Given the description of an element on the screen output the (x, y) to click on. 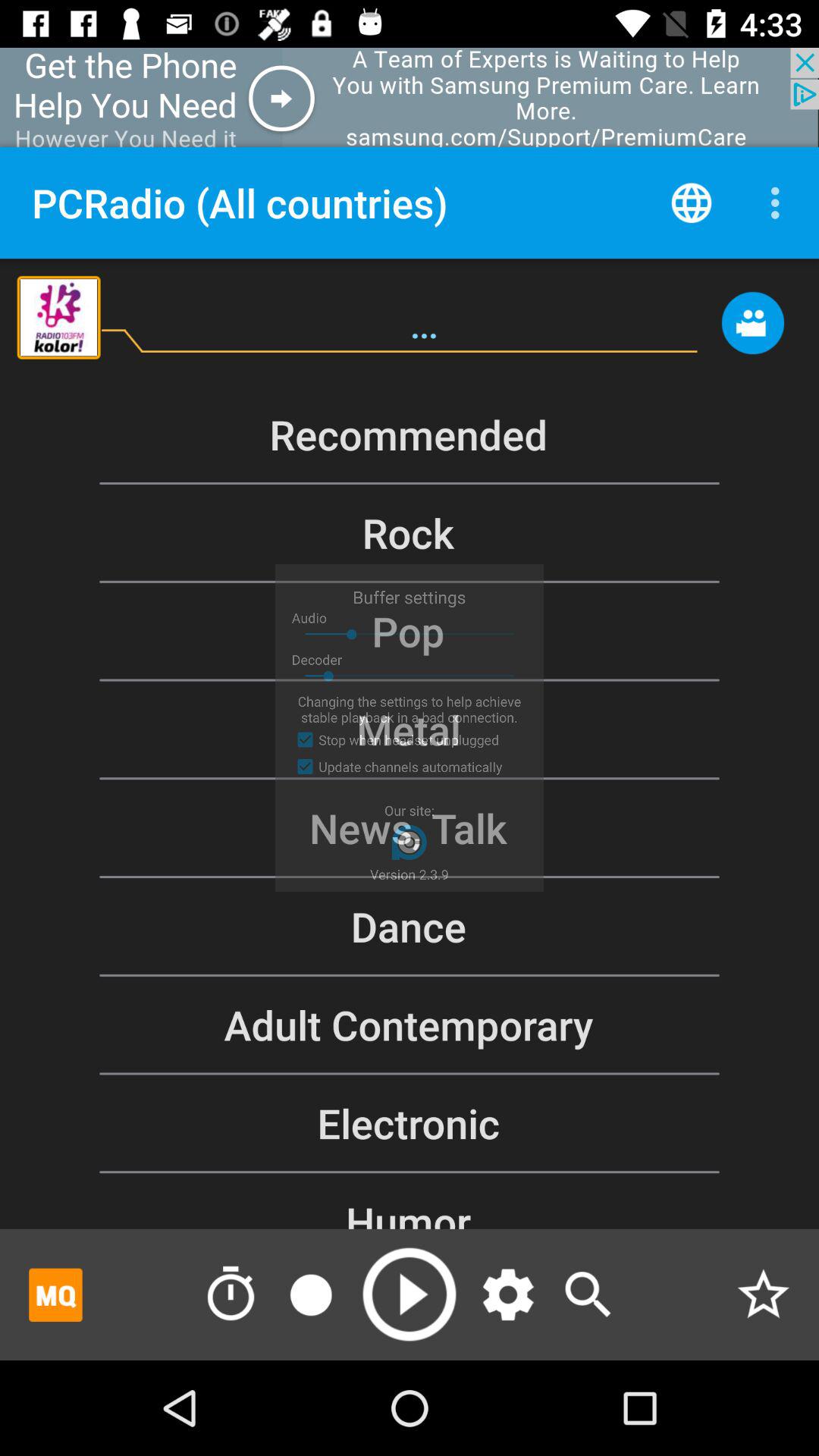
for adverisment link (55, 1294)
